Given the description of an element on the screen output the (x, y) to click on. 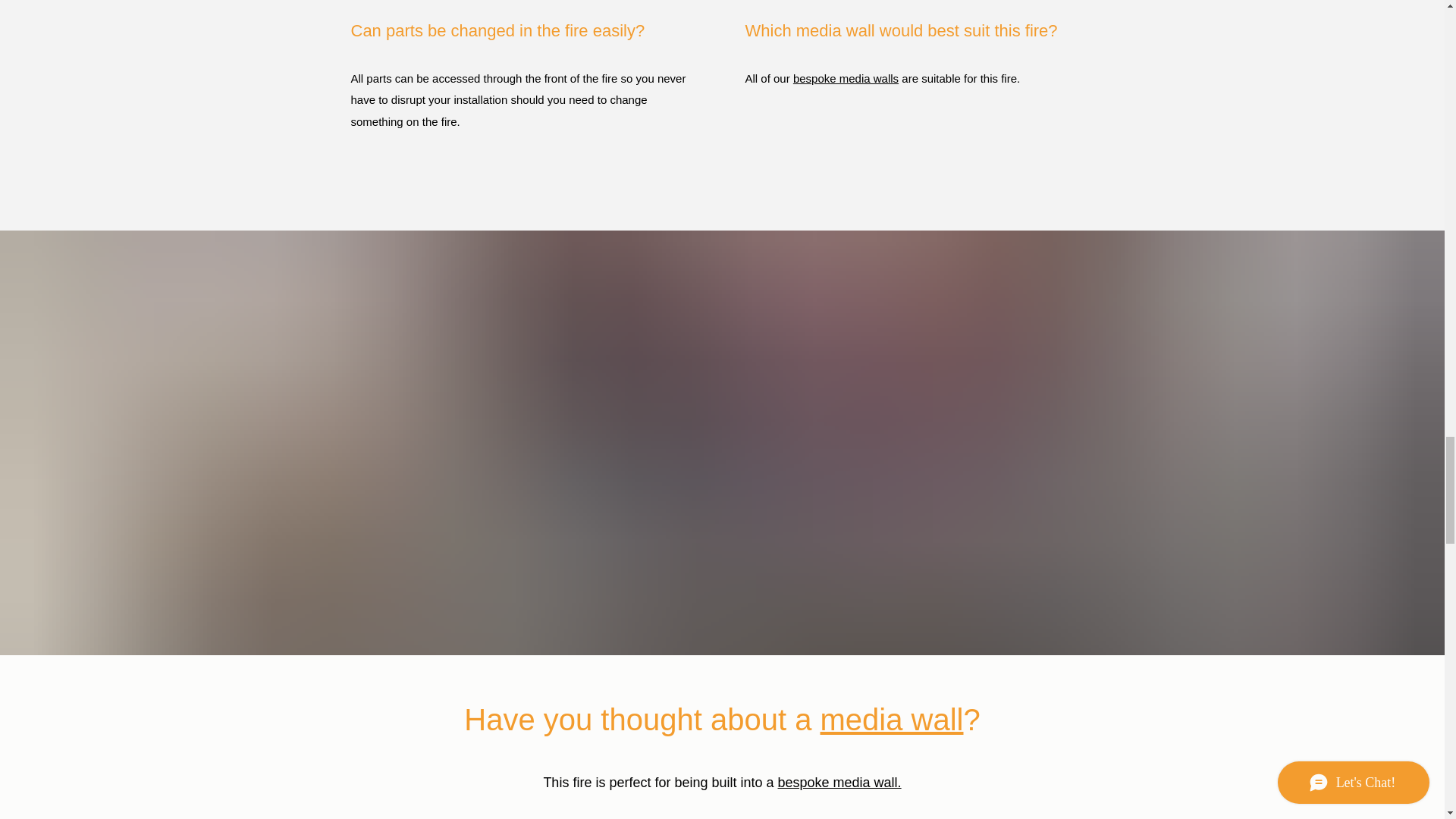
bespoke media walls (845, 78)
bespoke media wall. (839, 782)
media wall (892, 719)
